Given the description of an element on the screen output the (x, y) to click on. 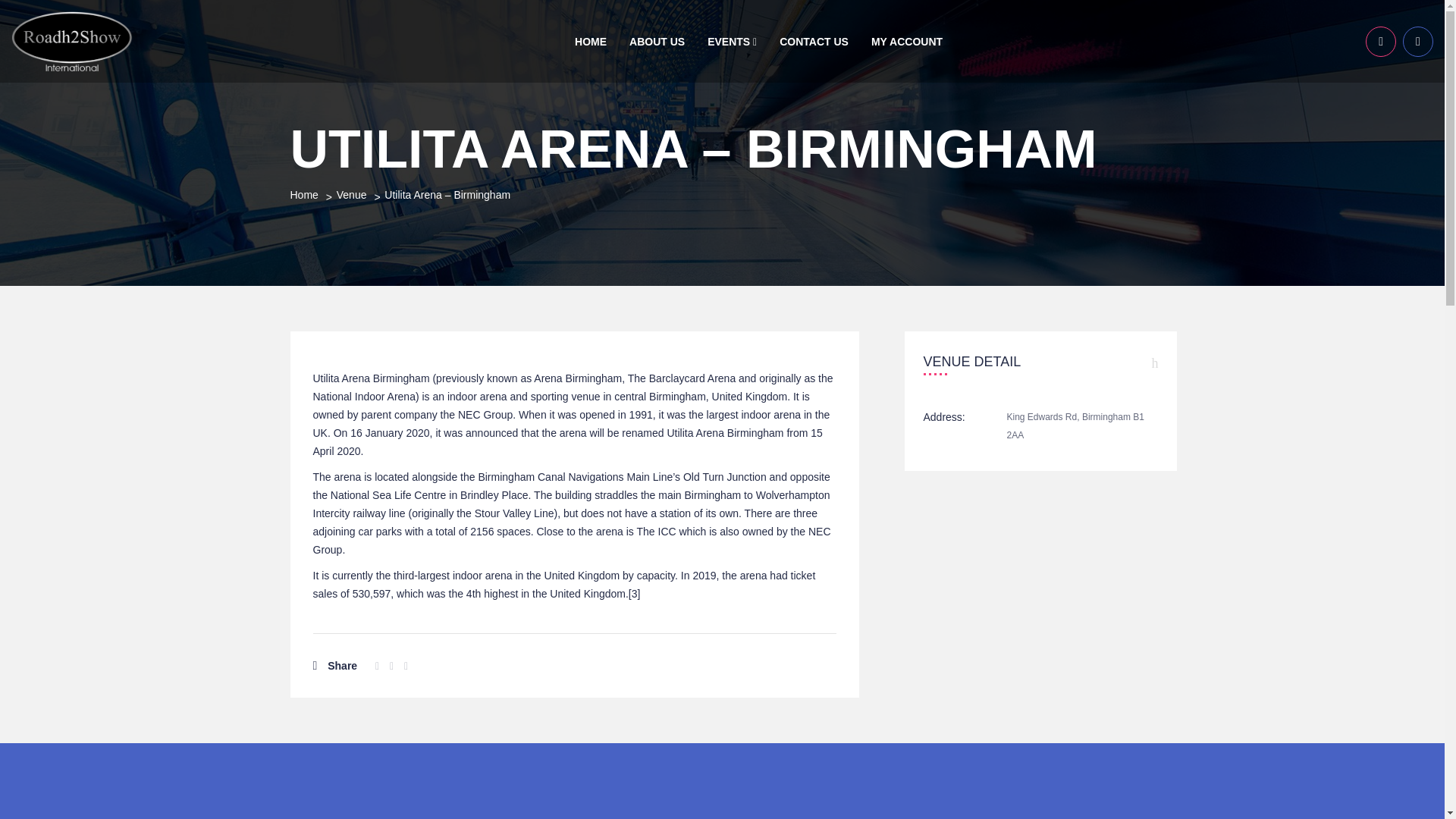
Contact Us (814, 41)
Home (590, 41)
HOME (590, 41)
About Us (656, 41)
EVENTS (731, 41)
Venue (351, 194)
ABOUT US (656, 41)
Events (731, 41)
CONTACT US (814, 41)
MY ACCOUNT (906, 41)
